Given the description of an element on the screen output the (x, y) to click on. 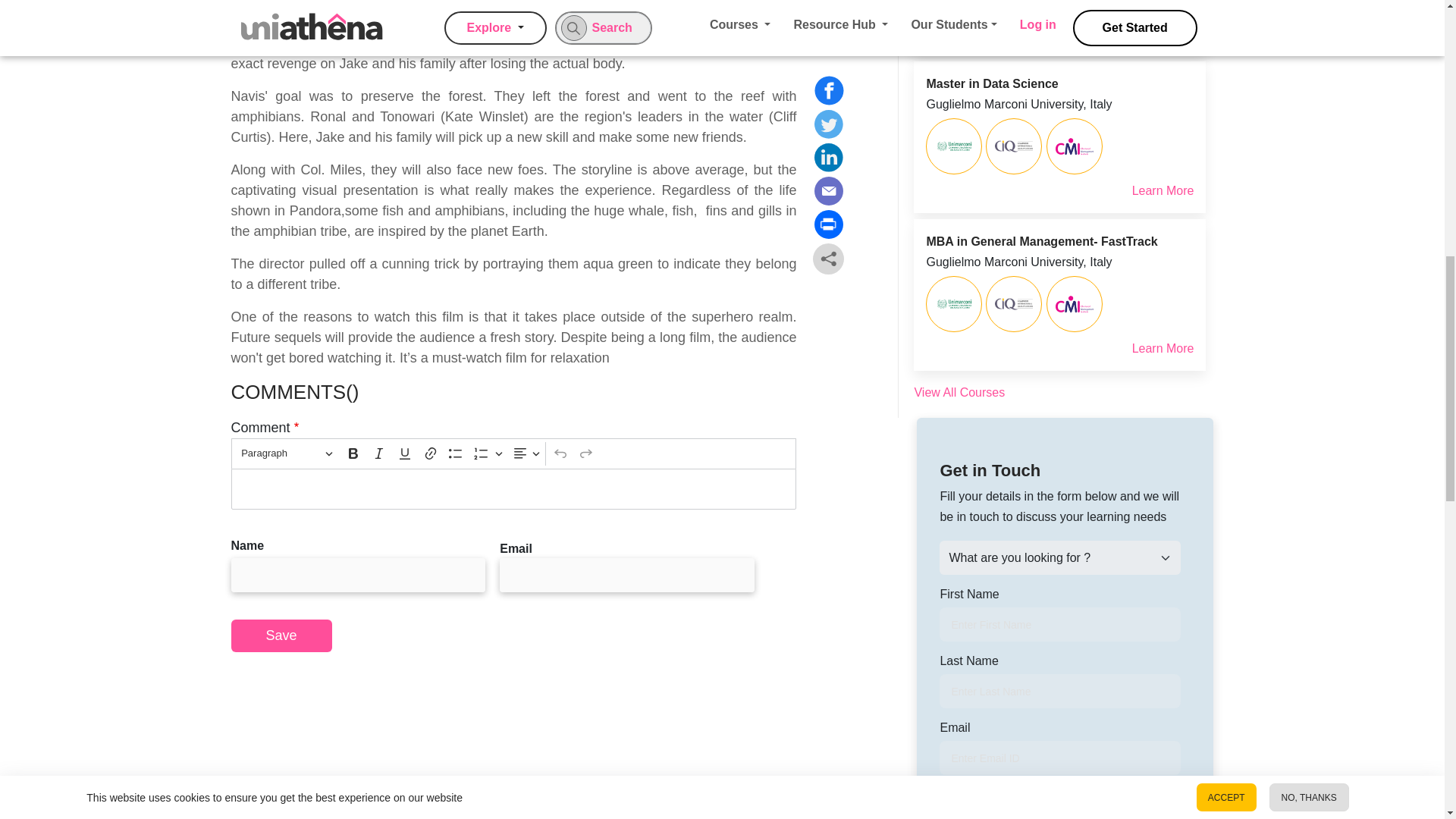
Save (280, 635)
